Given the description of an element on the screen output the (x, y) to click on. 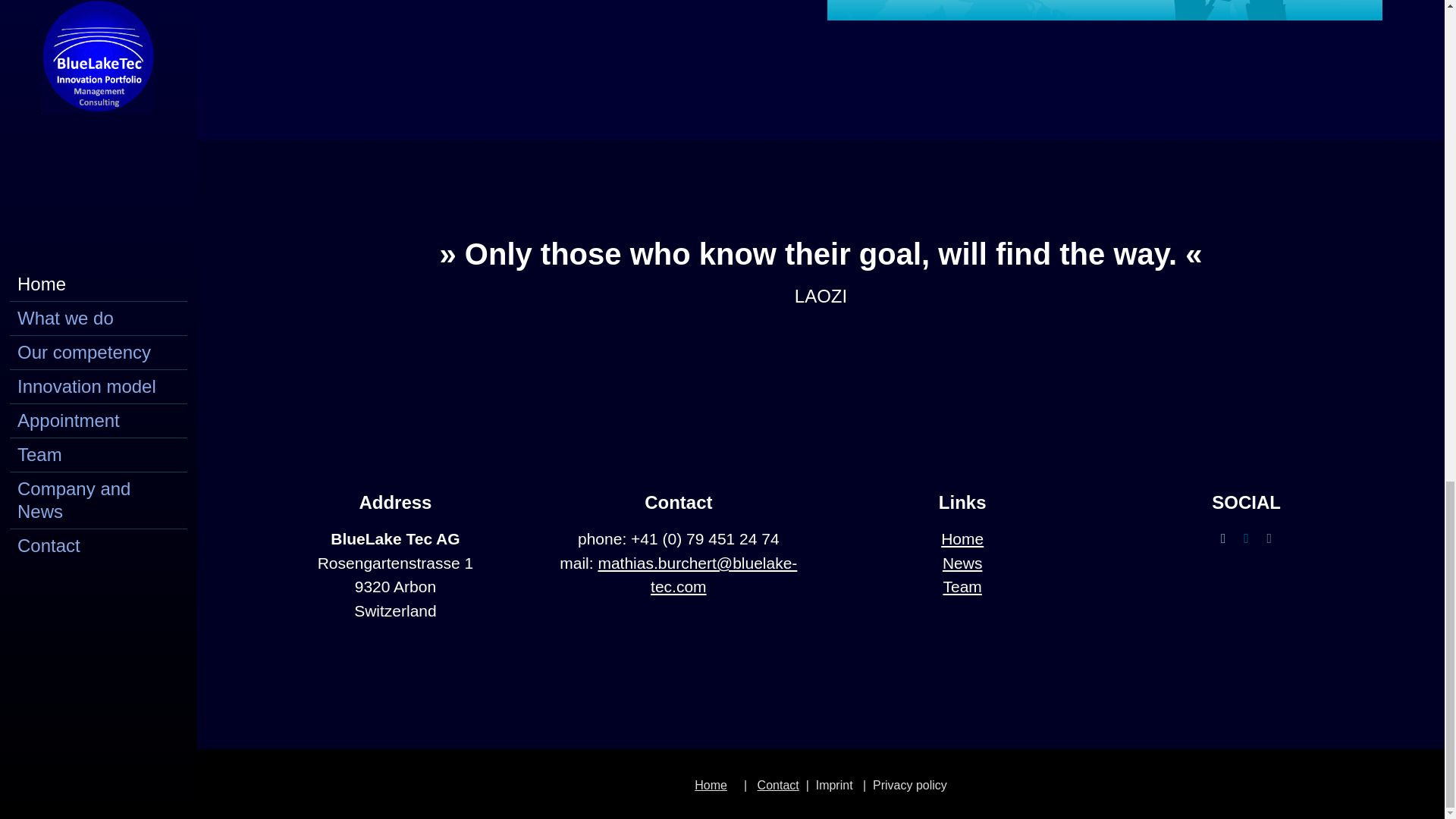
LinkedIn (1245, 538)
Telefon (1269, 538)
E-Mail (1222, 538)
Home (710, 784)
Home (962, 538)
Team (962, 586)
News (962, 562)
Contact (778, 784)
